Given the description of an element on the screen output the (x, y) to click on. 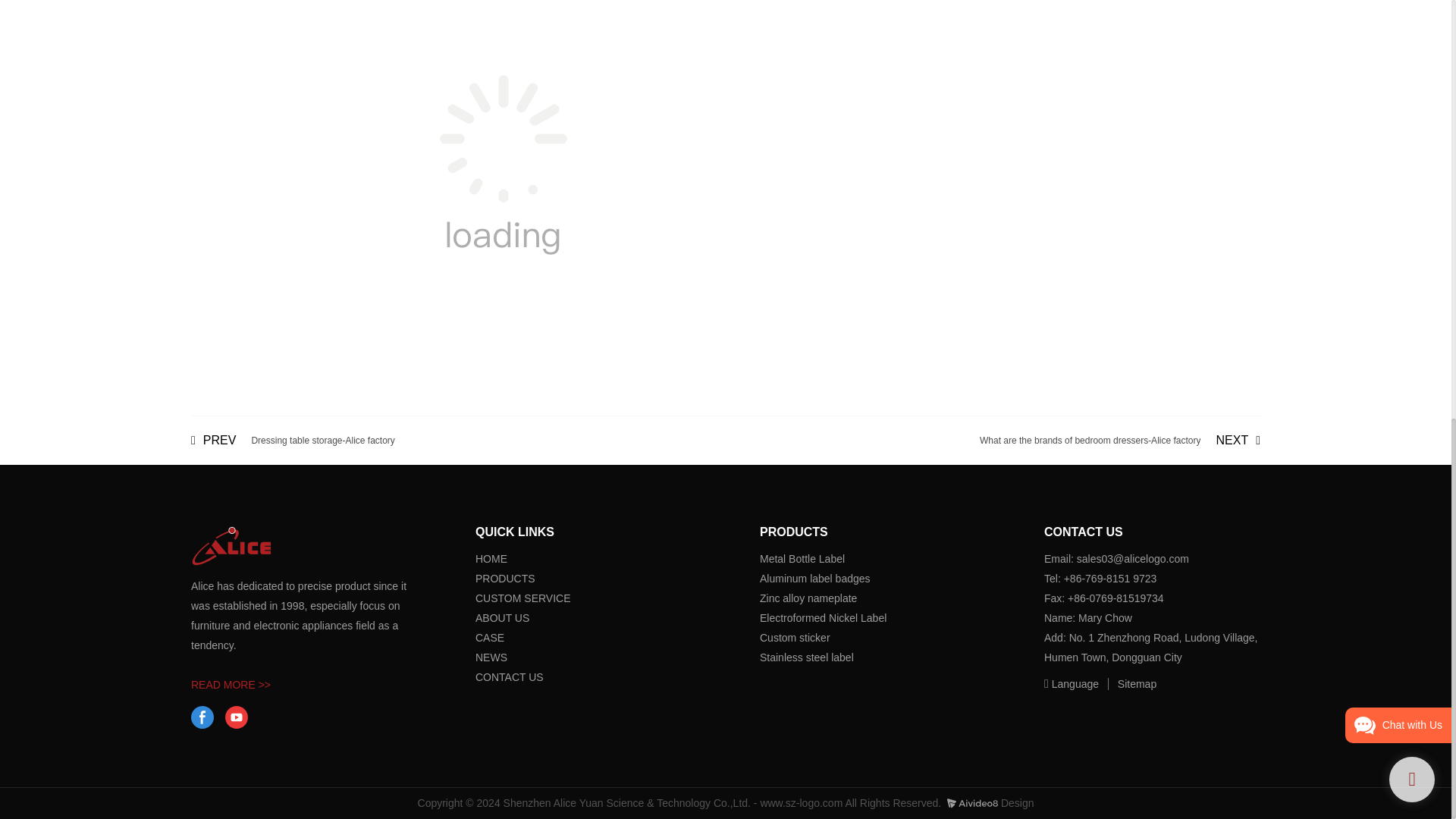
ABOUT US (292, 440)
CONTACT US (502, 617)
youtube (509, 676)
NE (236, 716)
CA (482, 657)
PRODUCTS (1119, 440)
CUSTOM SERVICE (482, 637)
What are the brands of bedroom dressers-Alice factory (505, 578)
facebook (523, 598)
Dressing table storage-Alice factory (1119, 440)
HOME (202, 716)
Metal Bottle Label (292, 440)
